Given the description of an element on the screen output the (x, y) to click on. 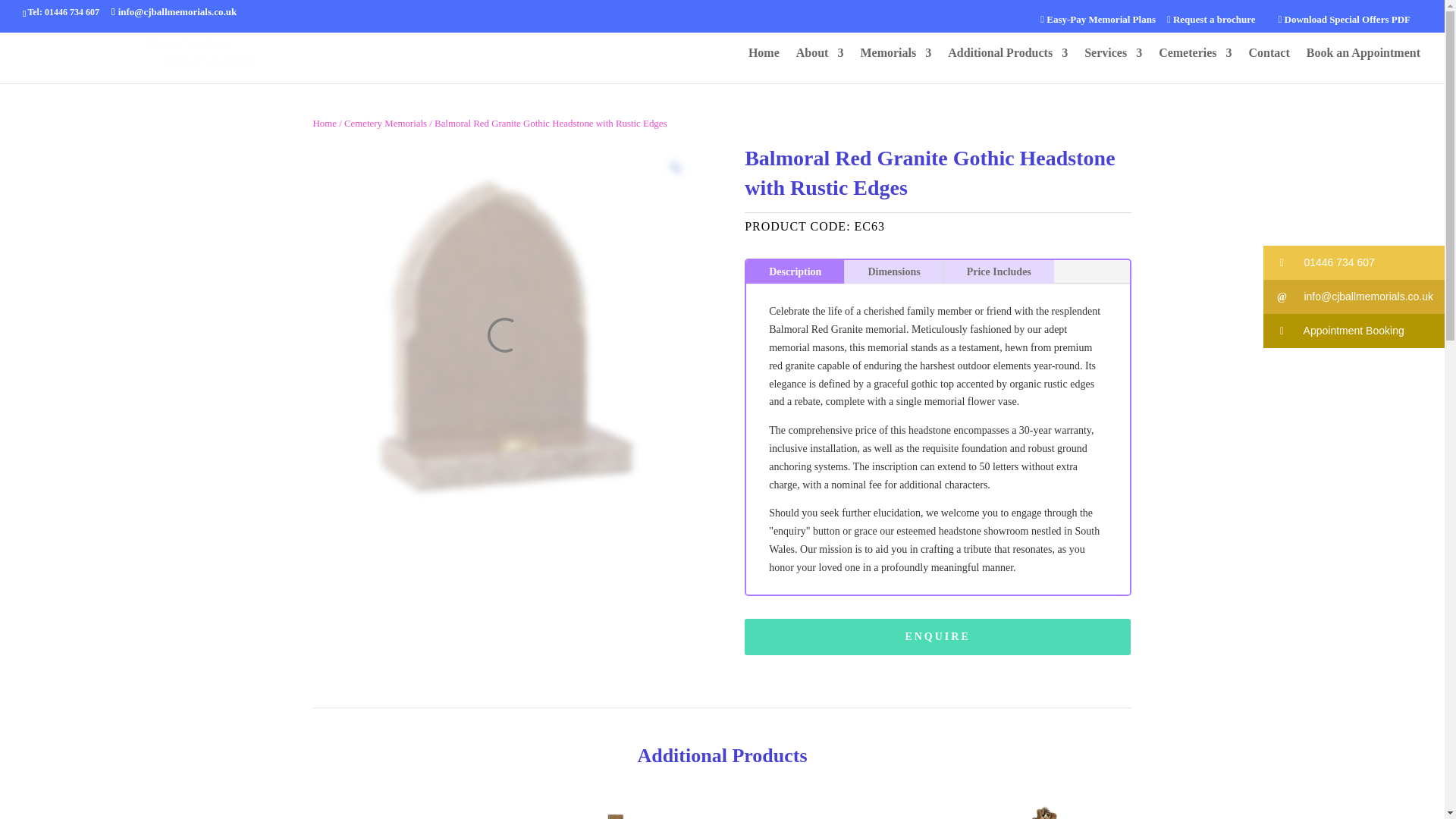
Additional Products (1007, 65)
Services (1112, 65)
Memorials (895, 65)
Biondan Bronze Flowers Ornament 1881 (1040, 807)
Download Special Offers PDF (1344, 19)
Black Granite Turned Memorial Flower Vase (403, 807)
Cemeteries (1194, 65)
About (820, 65)
Biondan Crucifix Ornament 4214 (615, 807)
